Given the description of an element on the screen output the (x, y) to click on. 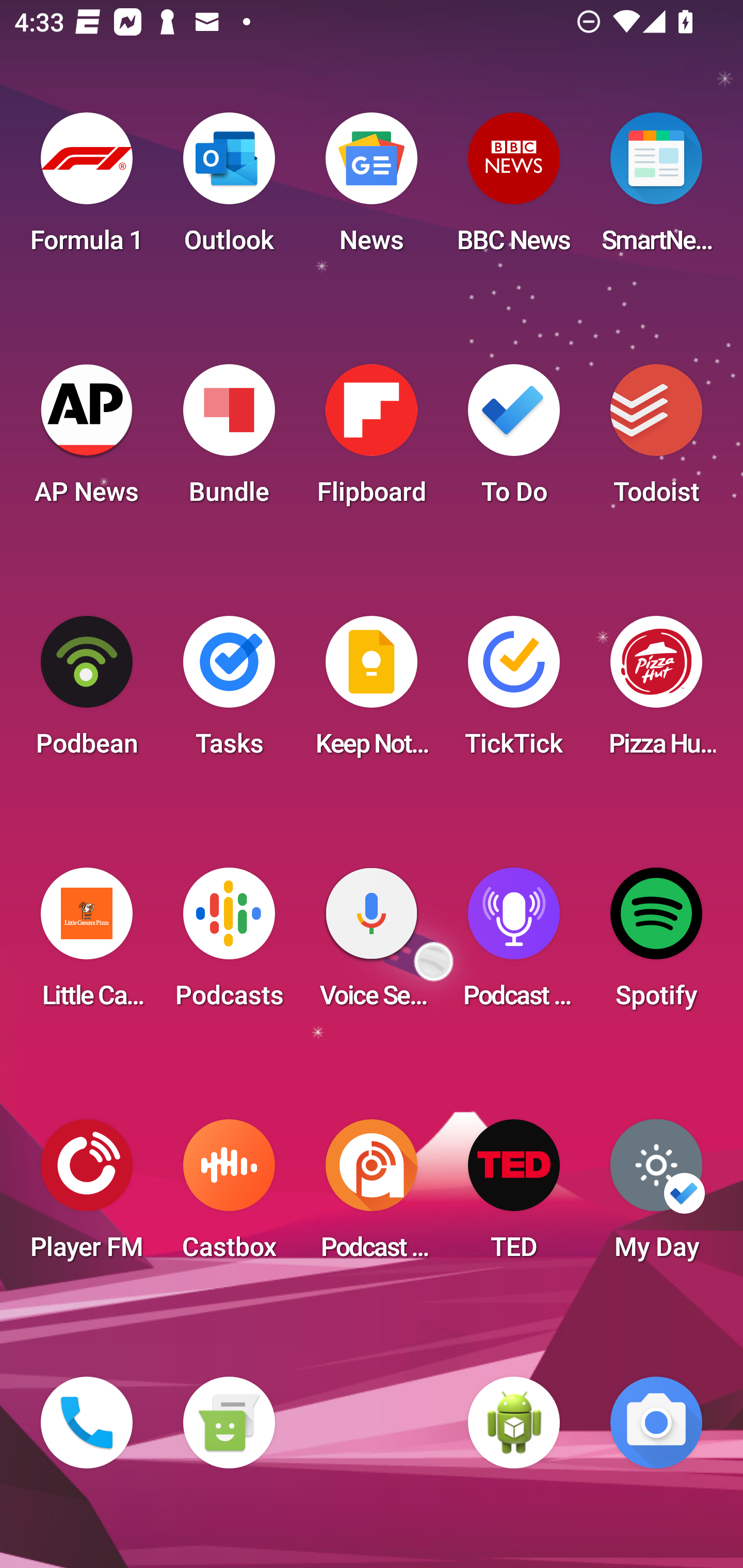
Formula 1 (86, 188)
Outlook (228, 188)
News (371, 188)
BBC News (513, 188)
SmartNews (656, 188)
AP News (86, 440)
Bundle (228, 440)
Flipboard (371, 440)
To Do (513, 440)
Todoist (656, 440)
Podbean (86, 692)
Tasks (228, 692)
Keep Notes (371, 692)
TickTick (513, 692)
Pizza Hut HK & Macau (656, 692)
Little Caesars Pizza (86, 943)
Podcasts (228, 943)
Voice Search (371, 943)
Podcast Player (513, 943)
Spotify (656, 943)
Player FM (86, 1195)
Castbox (228, 1195)
Podcast Addict (371, 1195)
TED (513, 1195)
My Day (656, 1195)
Phone (86, 1422)
Messaging (228, 1422)
WebView Browser Tester (513, 1422)
Camera (656, 1422)
